Given the description of an element on the screen output the (x, y) to click on. 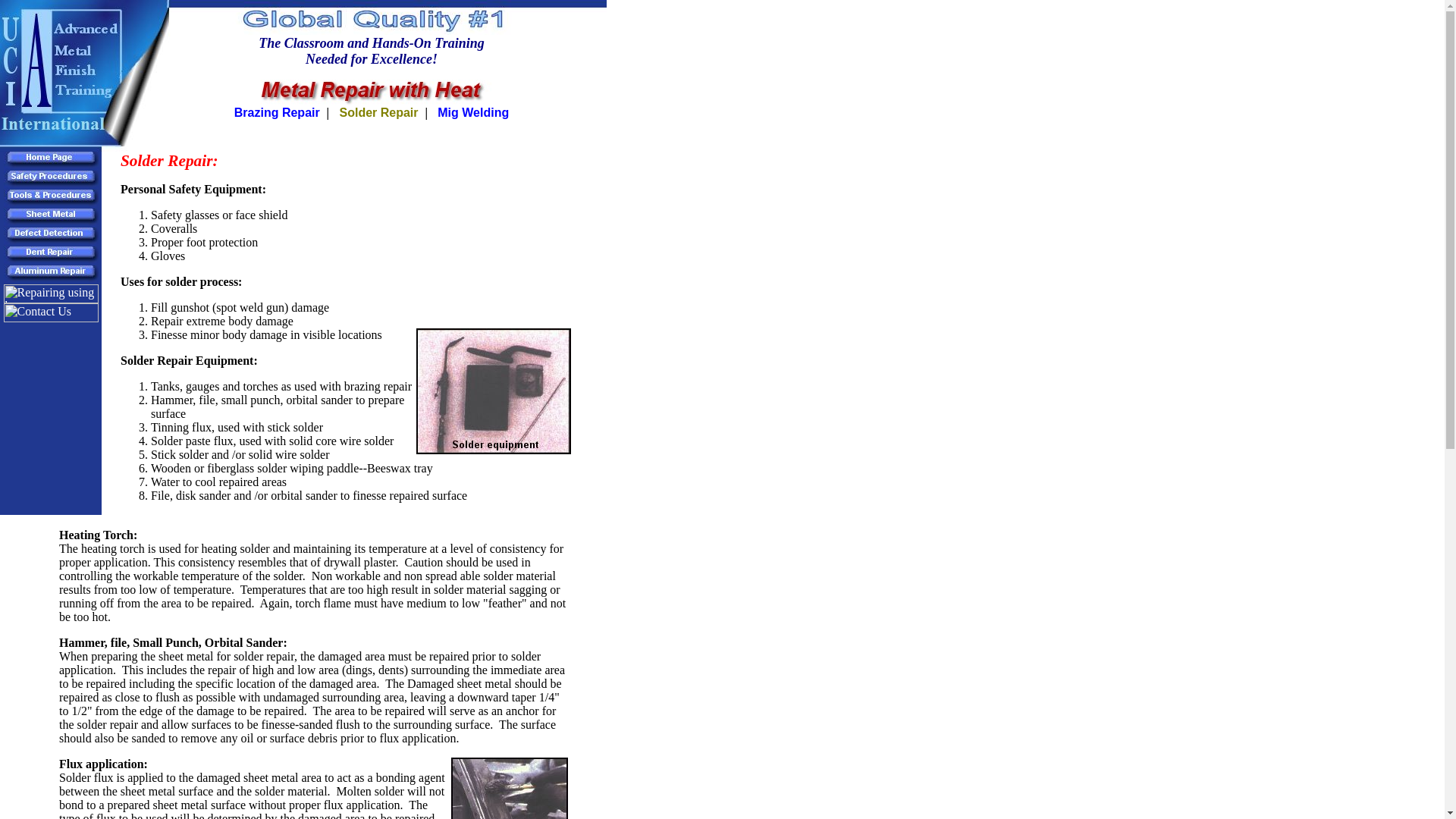
Brazing Repair (277, 112)
Mig Welding (473, 112)
